Given the description of an element on the screen output the (x, y) to click on. 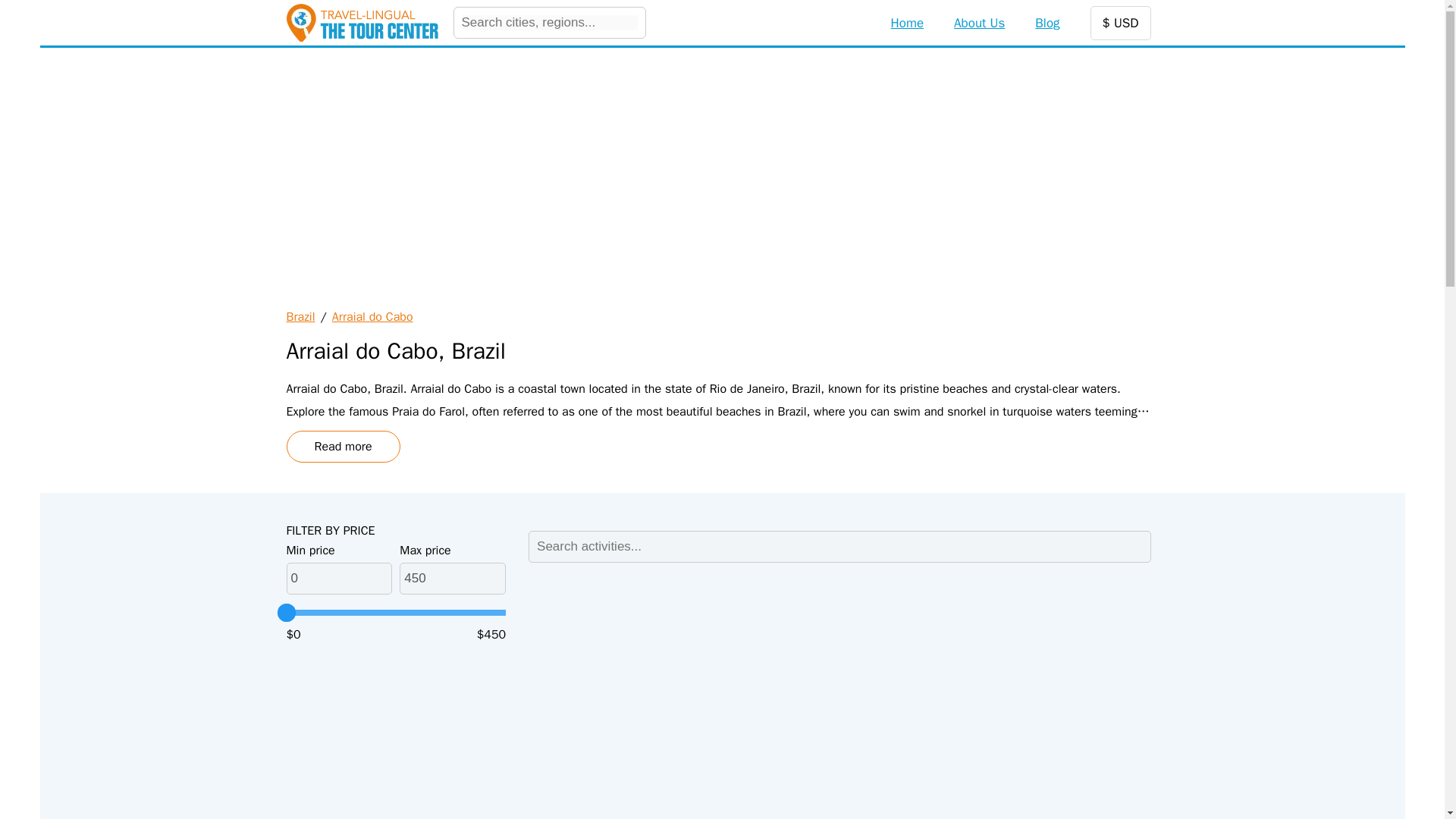
Brazil (300, 316)
Arraial do Cabo (372, 316)
450 (451, 578)
About Us (978, 22)
Blog (1047, 22)
0 (339, 578)
Home (907, 22)
